Given the description of an element on the screen output the (x, y) to click on. 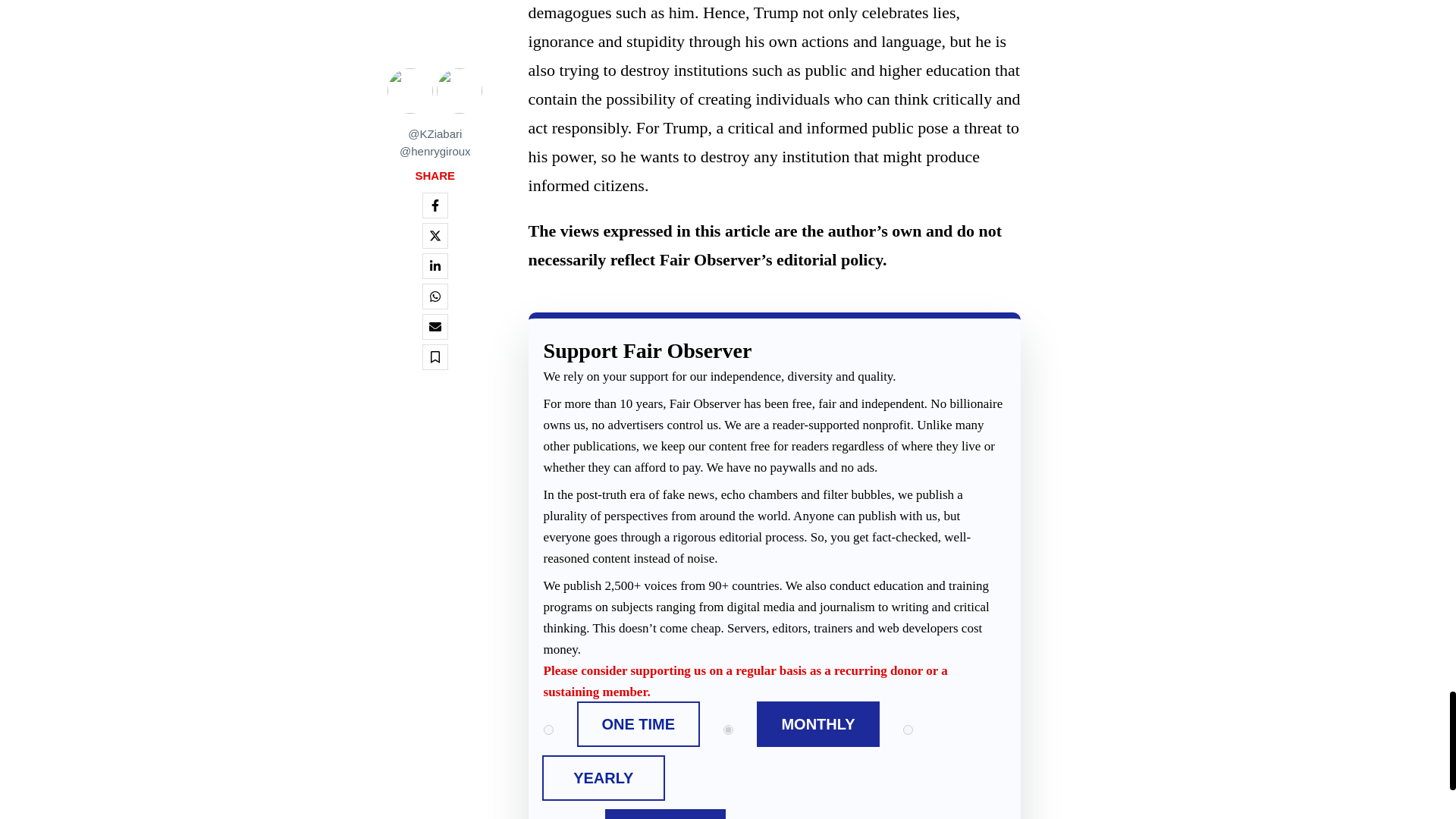
5 (548, 814)
9 (782, 814)
